Given the description of an element on the screen output the (x, y) to click on. 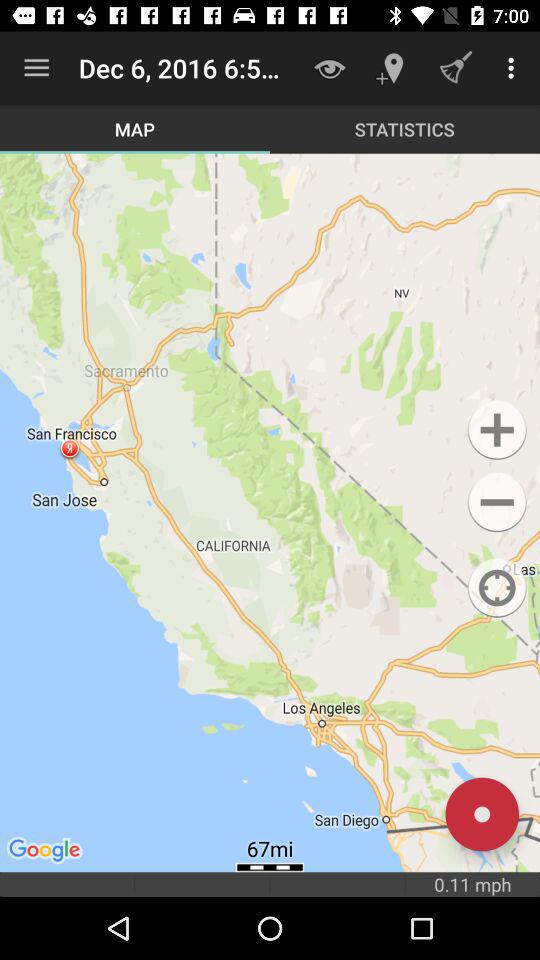
zoom the map (496, 429)
